Given the description of an element on the screen output the (x, y) to click on. 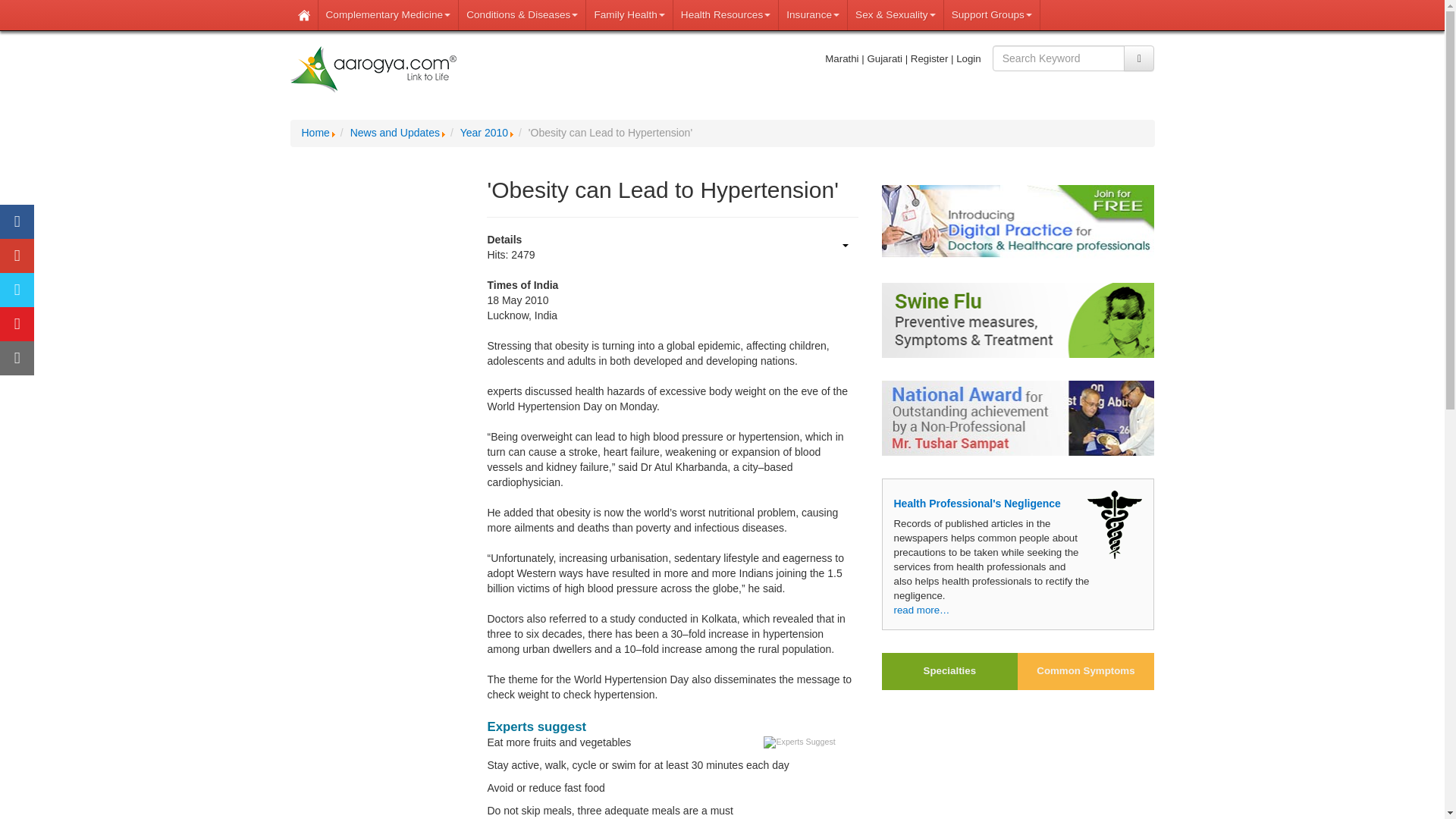
Youtube (16, 324)
Advertisement (376, 729)
Complementary Medicine (389, 15)
Twitter (16, 289)
Facebook (16, 221)
Aarogya.com (373, 69)
Experts Suggest (798, 742)
Advertisement (1017, 761)
Swine Flu (1017, 319)
